Given the description of an element on the screen output the (x, y) to click on. 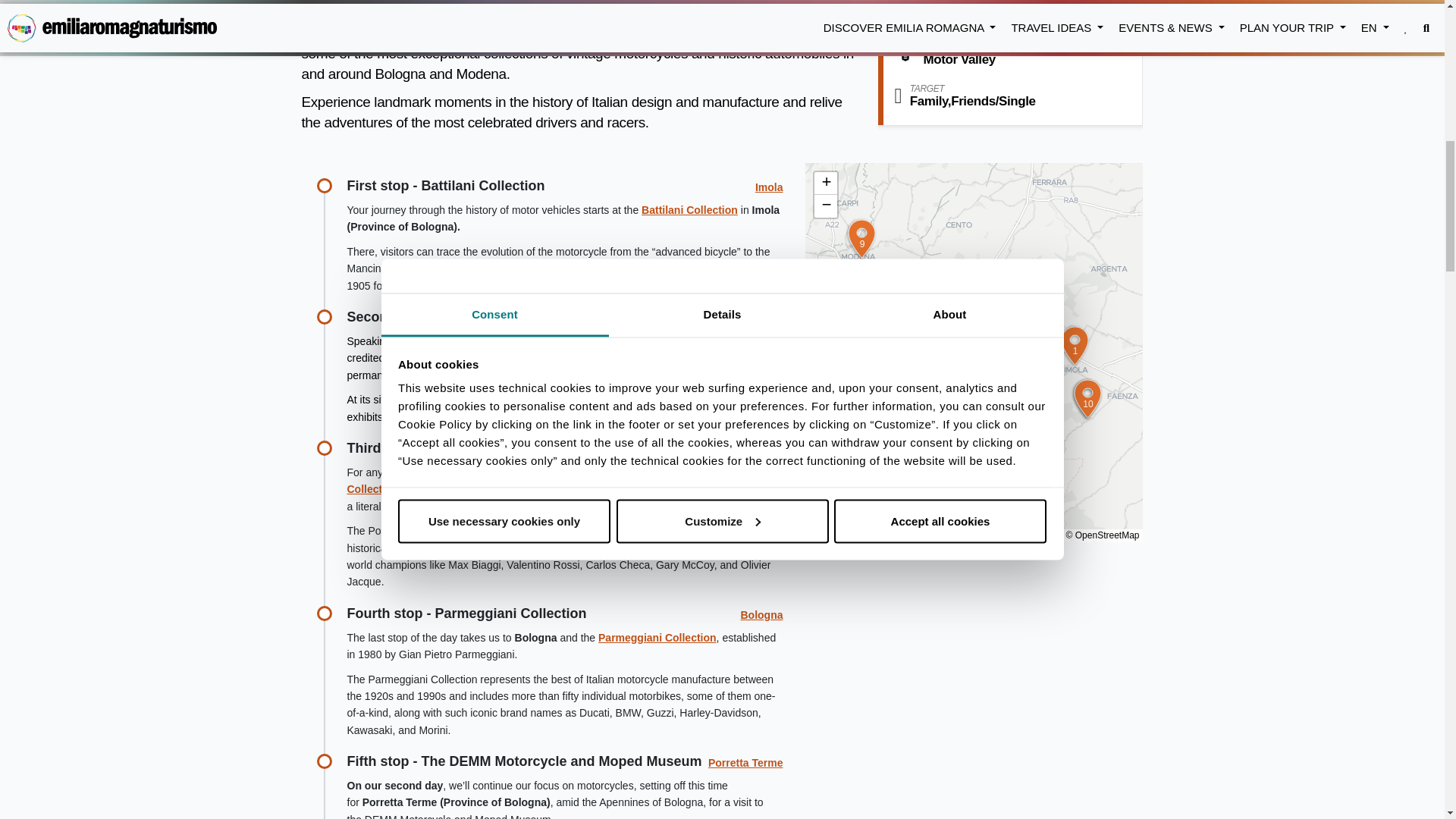
Zoom out (825, 205)
A JavaScript library for interactive maps (873, 534)
Zoom in (825, 182)
